Given the description of an element on the screen output the (x, y) to click on. 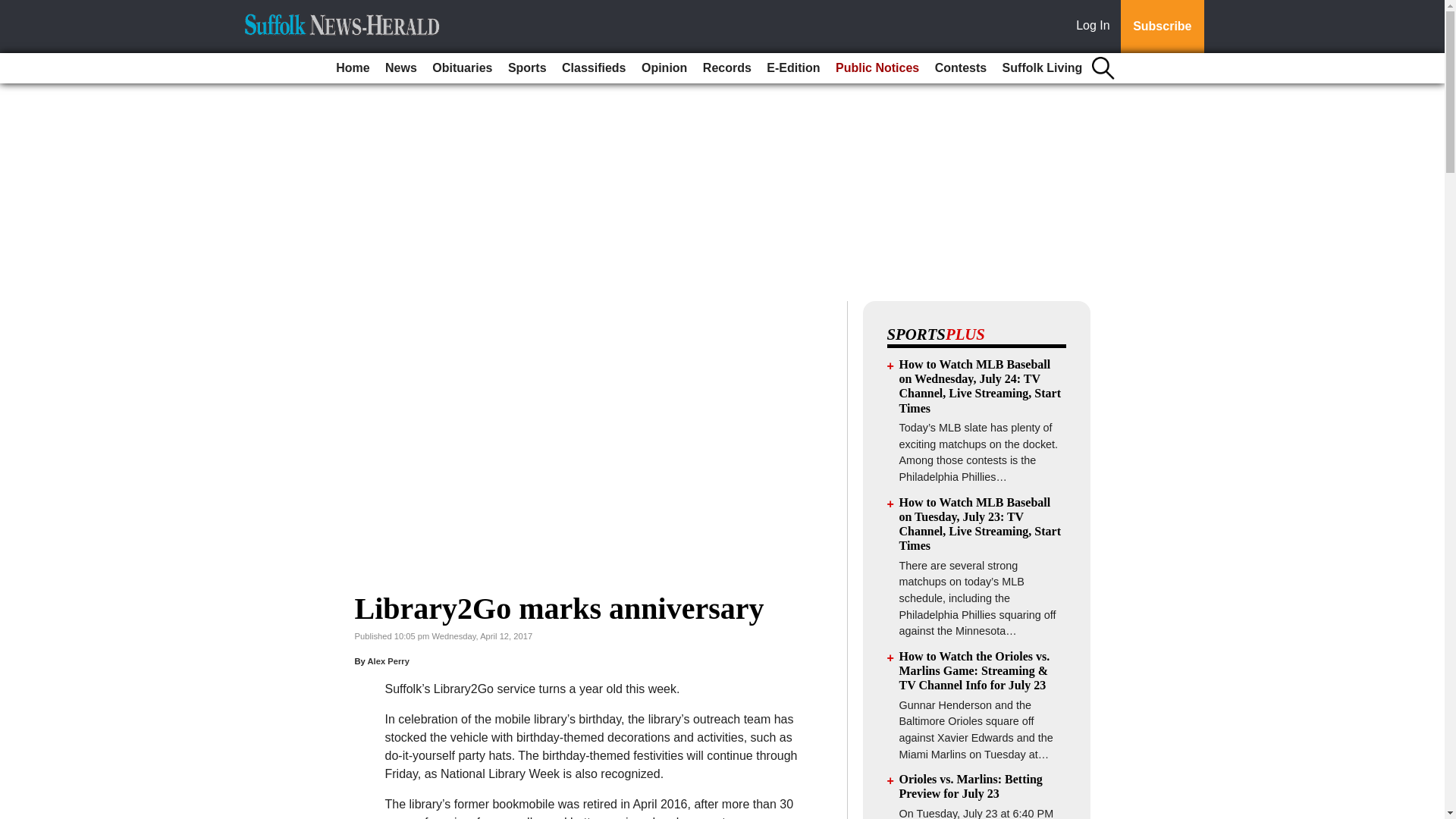
Records (727, 68)
Public Notices (876, 68)
Home (352, 68)
Go (13, 9)
E-Edition (792, 68)
Sports (527, 68)
News (400, 68)
Subscribe (1162, 26)
Orioles vs. Marlins: Betting Preview for July 23 (970, 786)
Contests (960, 68)
Opinion (663, 68)
Classifieds (593, 68)
Suffolk Living (1042, 68)
